Given the description of an element on the screen output the (x, y) to click on. 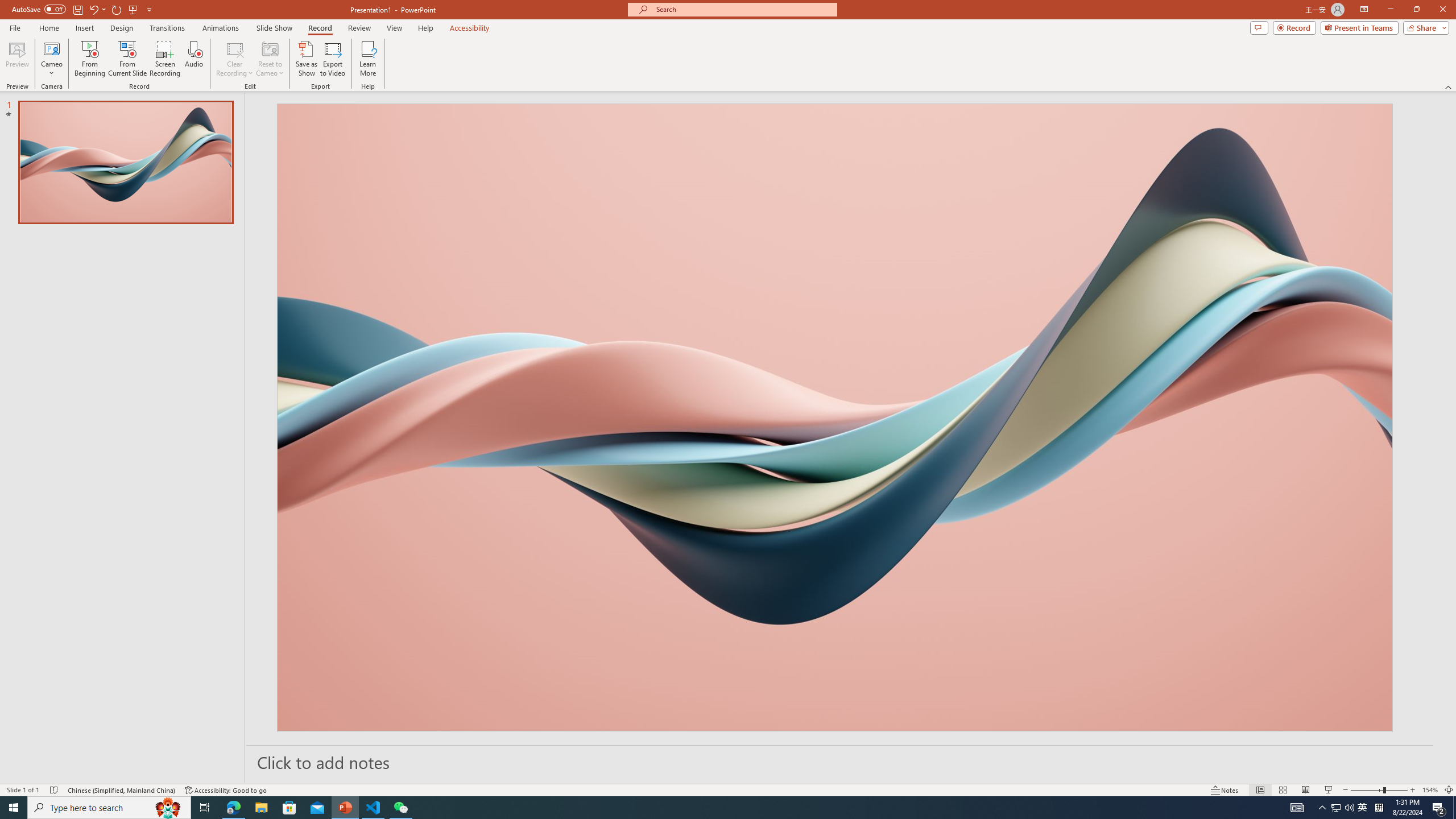
Zoom 154% (1430, 790)
